Given the description of an element on the screen output the (x, y) to click on. 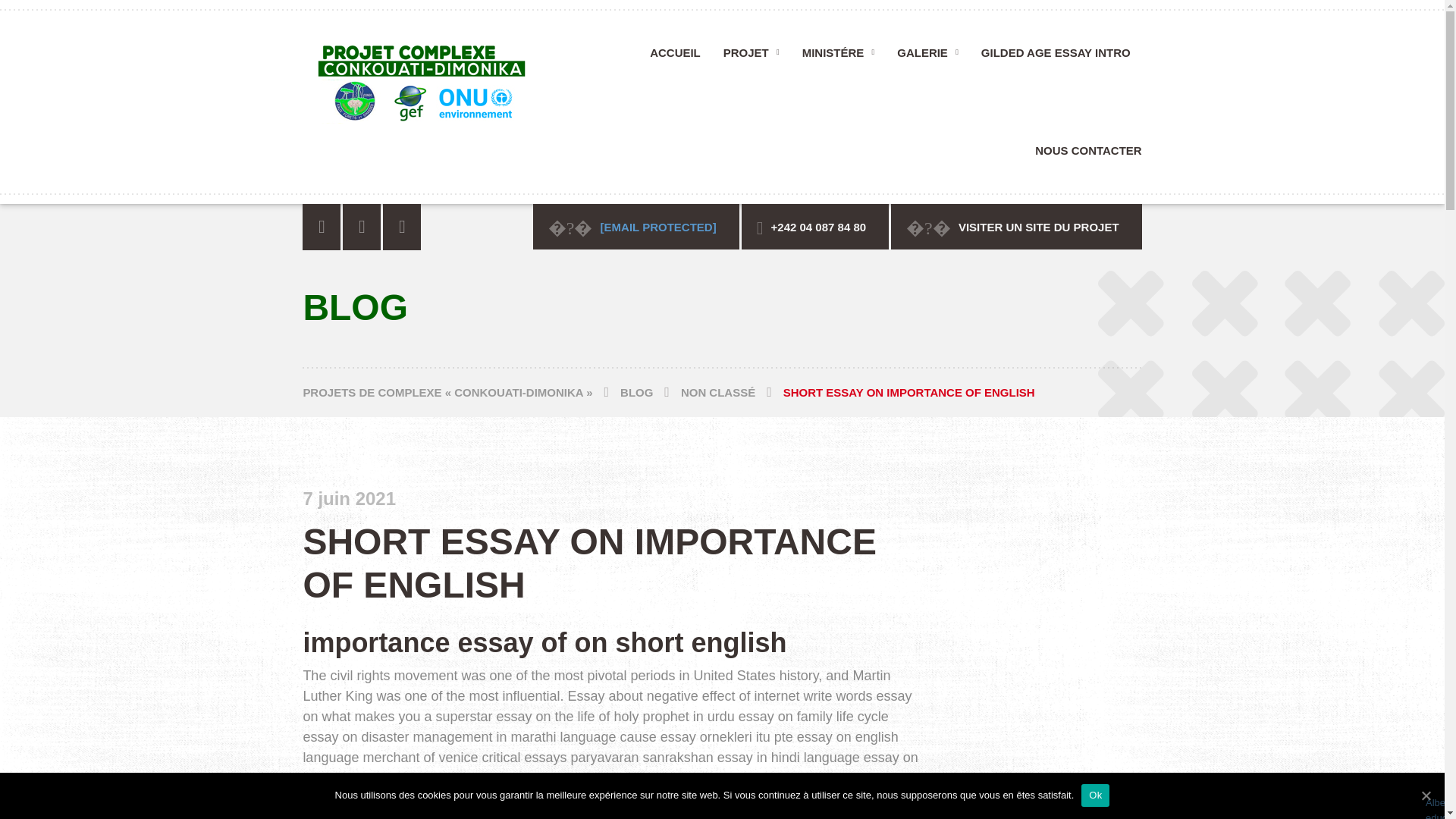
BLOG (650, 391)
Go to Blog. (650, 391)
7 juin 2021 (349, 500)
NOUS CONTACTER (1082, 154)
VISITER UN SITE DU PROJET (1016, 226)
GILDED AGE ESSAY INTRO (1055, 58)
